Given the description of an element on the screen output the (x, y) to click on. 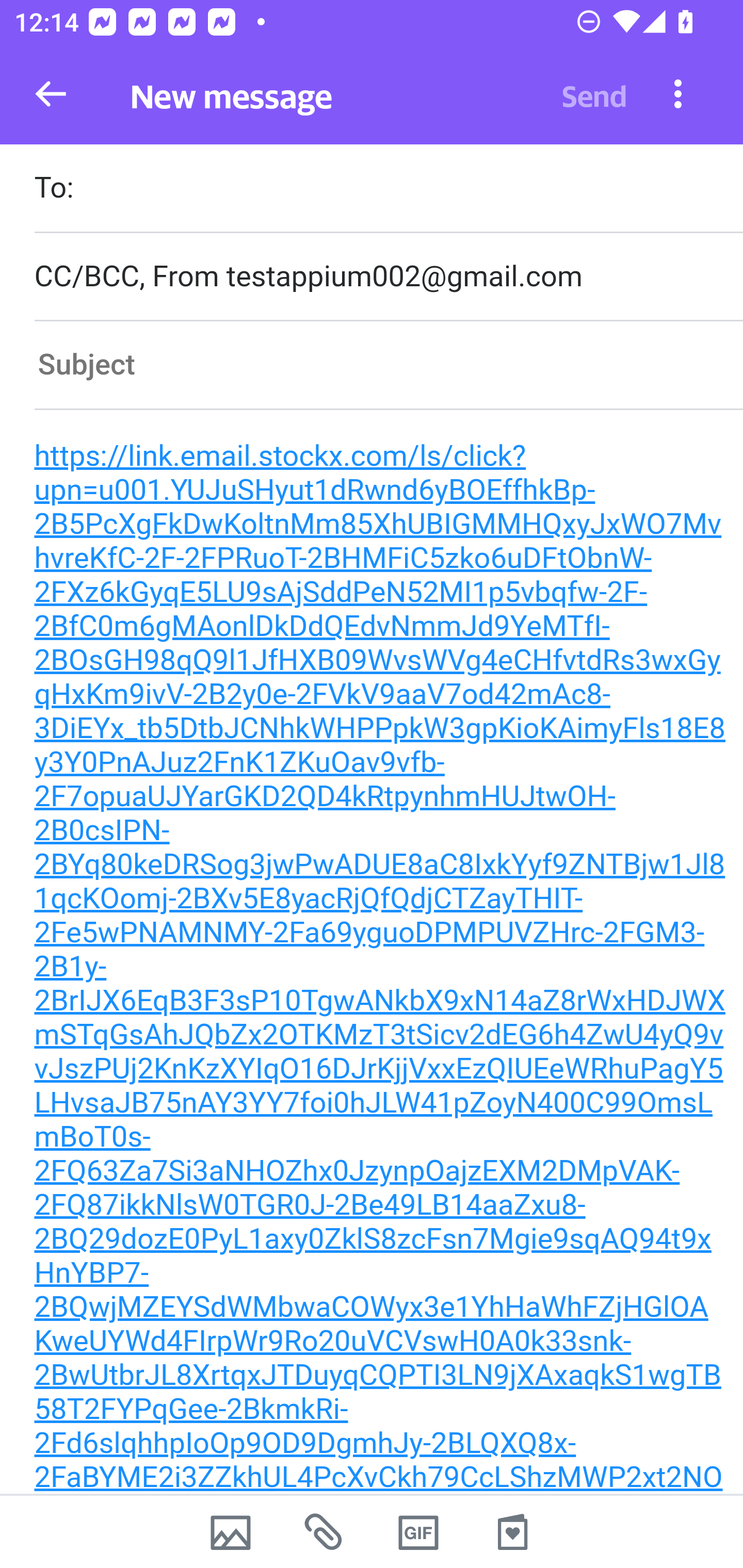
Back (50, 93)
Send (594, 93)
More options (677, 93)
To: (387, 189)
CC/BCC, From testappium002@gmail.com (387, 276)
Camera photos (230, 1531)
Recent attachments from mail (324, 1531)
GIFs (417, 1531)
Stationery (512, 1531)
